Given the description of an element on the screen output the (x, y) to click on. 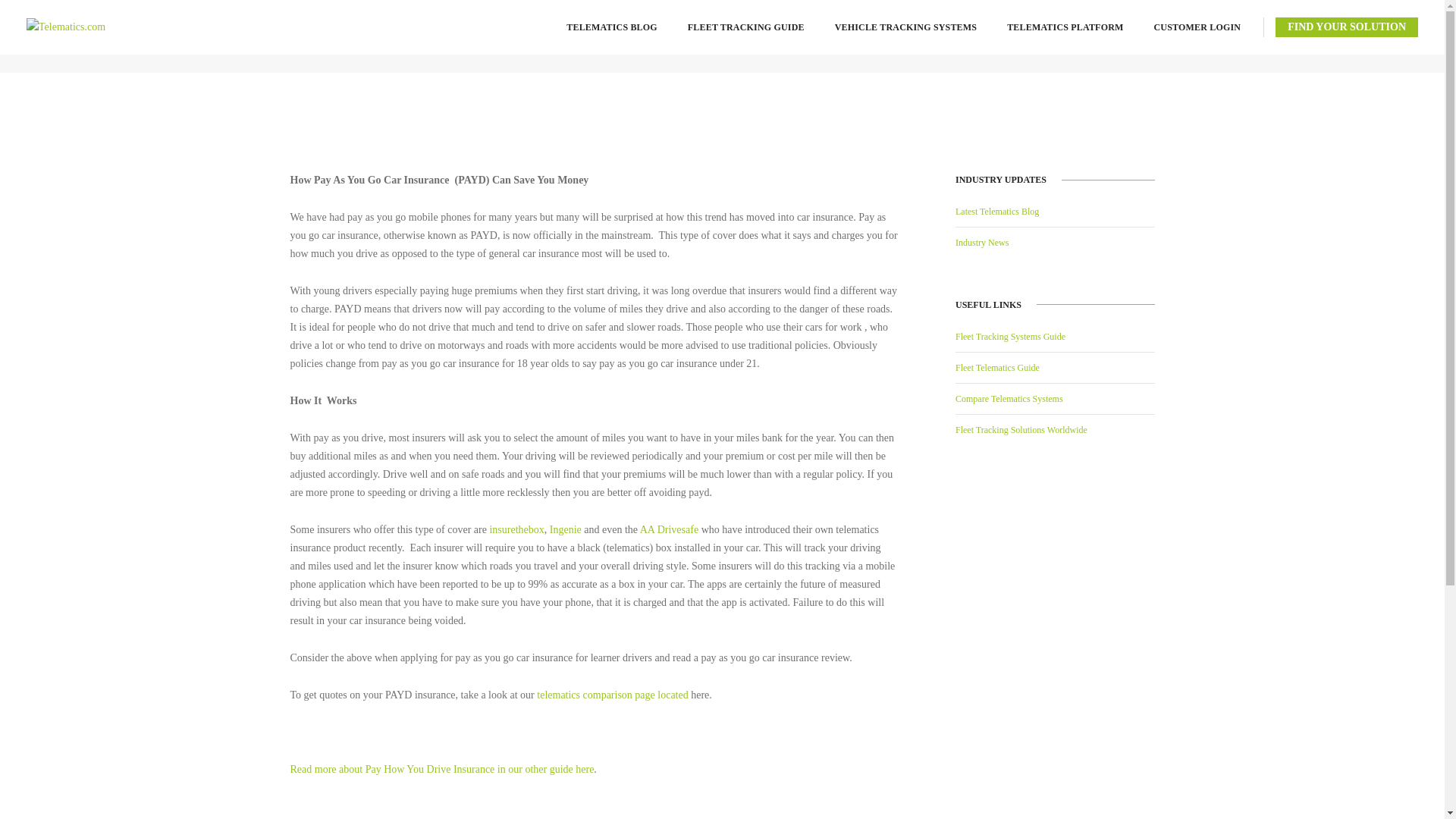
Telematics.com (65, 26)
telematics comparison page located (612, 695)
CUSTOMER LOGIN (1197, 27)
Ingenie (565, 529)
AA Drivesafe (669, 529)
TELEMATICS PLATFORM (1064, 27)
insurethebox (516, 529)
ROBERT PRIME (985, 36)
Fleet Tracking Solutions Worldwide (1021, 429)
Fleet Telematics Guide (997, 367)
Fleet Tracking Systems Guide (1010, 335)
FLEET TRACKING GUIDE (746, 27)
VEHICLE TRACKING SYSTEMS (905, 27)
Industry News (982, 242)
